Given the description of an element on the screen output the (x, y) to click on. 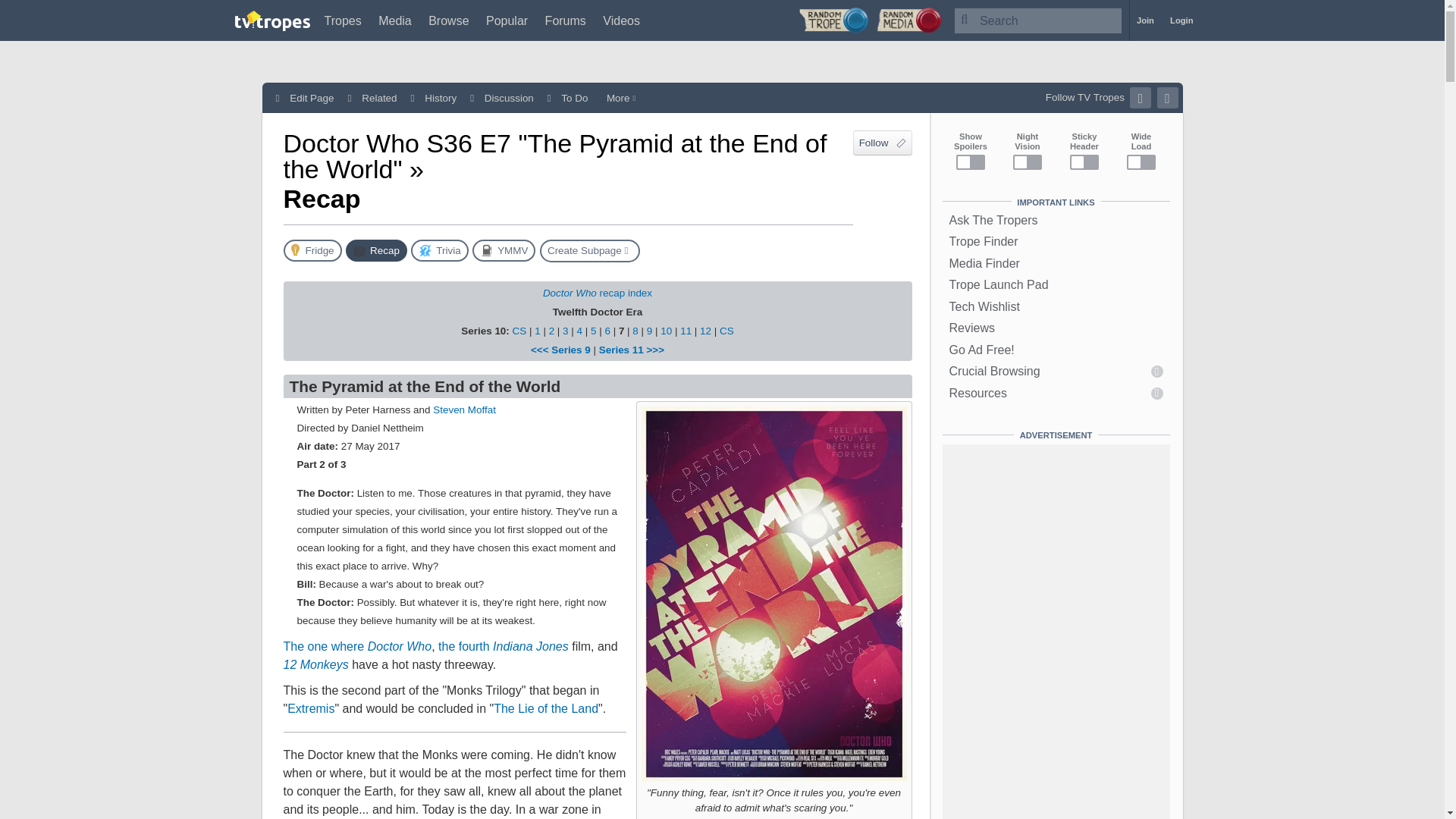
The Trivia page (438, 250)
Browse (448, 20)
The Fridge page (312, 250)
Popular (506, 20)
Forums (565, 20)
Videos (621, 20)
The Recap page (376, 250)
The YMMV page (503, 250)
Media (395, 20)
Login (1181, 20)
